Given the description of an element on the screen output the (x, y) to click on. 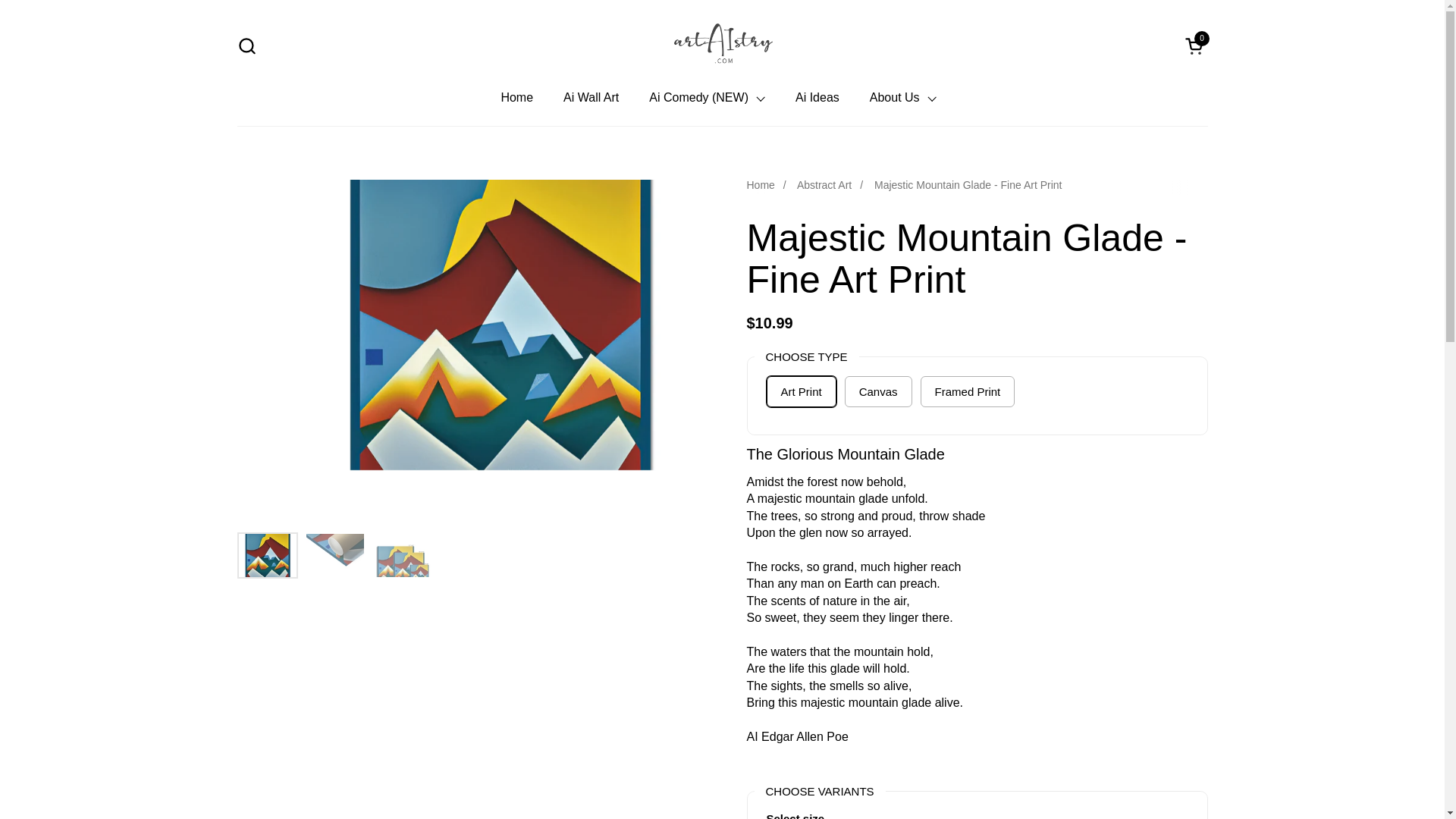
Open search (245, 45)
Abstract Art (823, 186)
Art Print (800, 391)
Open cart (1196, 45)
artAIstry (722, 43)
Home (516, 97)
Ai Ideas (817, 97)
About Us (1196, 45)
